Given the description of an element on the screen output the (x, y) to click on. 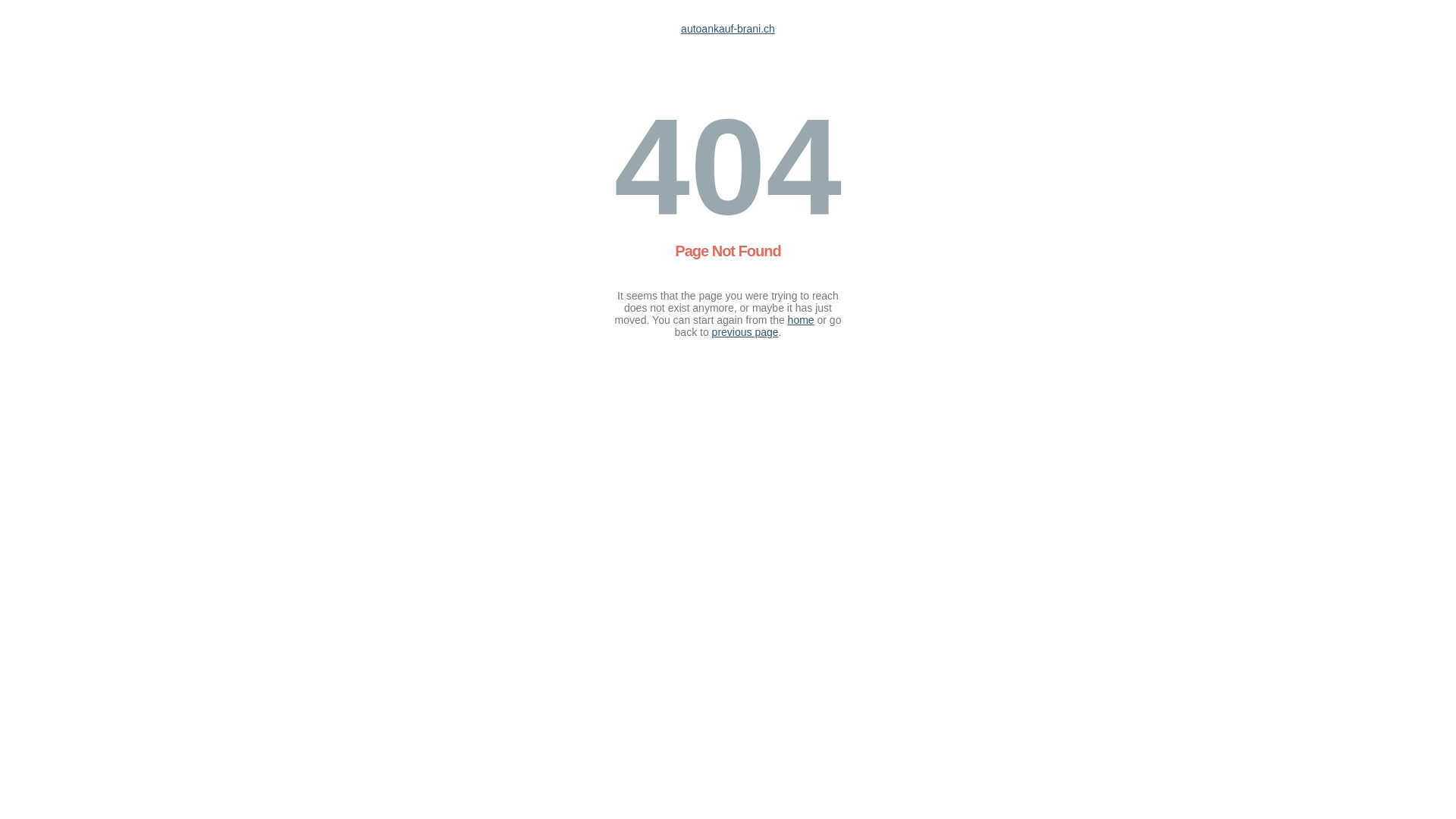
home Element type: text (800, 319)
autoankauf-brani.ch Element type: text (727, 28)
previous page Element type: text (745, 332)
